Given the description of an element on the screen output the (x, y) to click on. 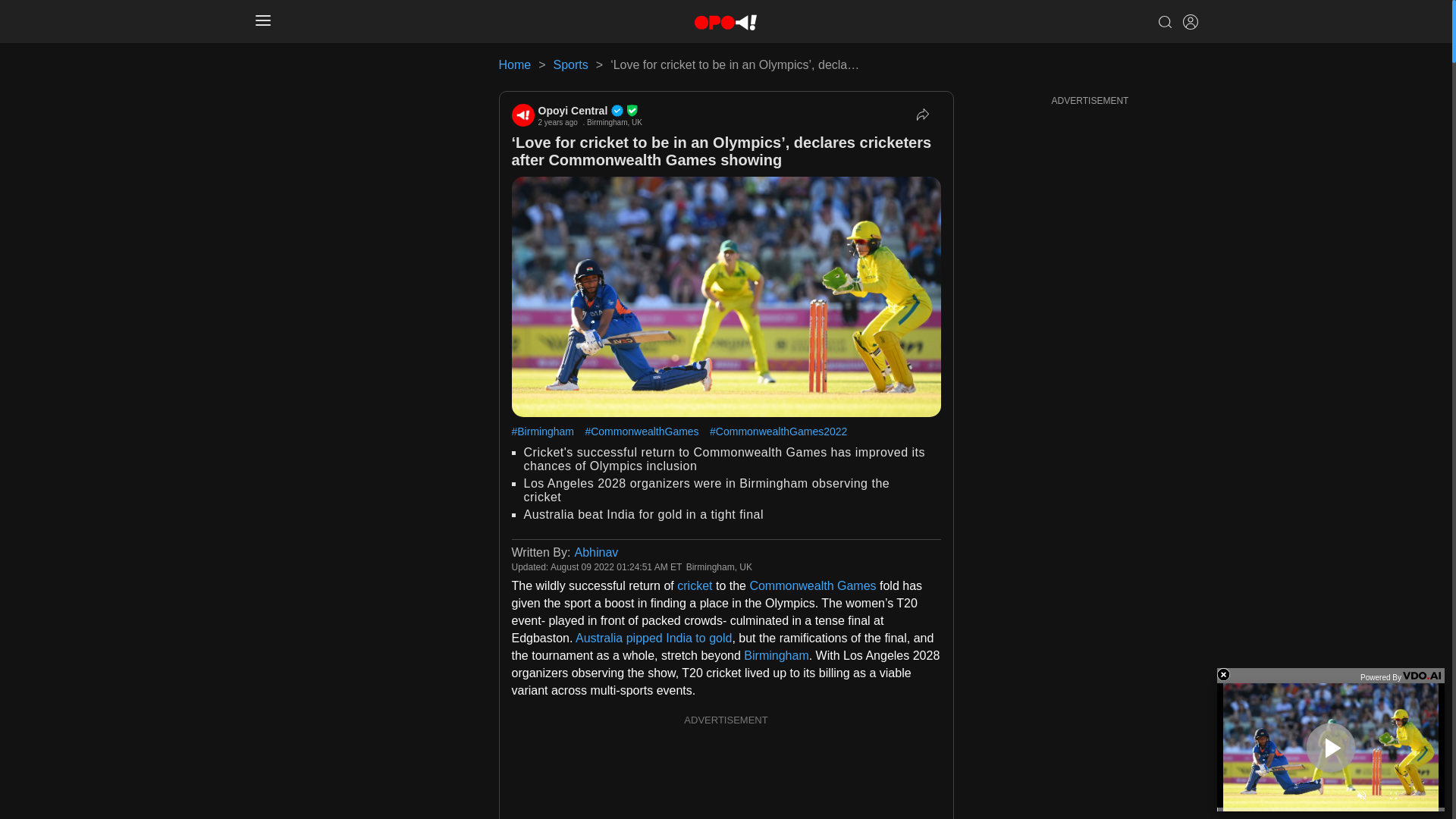
Fullscreen (1392, 797)
Sports (570, 64)
 Opoyi Central (522, 115)
Opoyi Central (590, 110)
Home (515, 64)
Play (1330, 747)
Abhinav (595, 552)
Opoyi Central (590, 110)
Unmute (1360, 797)
3rd party ad content (726, 774)
